Given the description of an element on the screen output the (x, y) to click on. 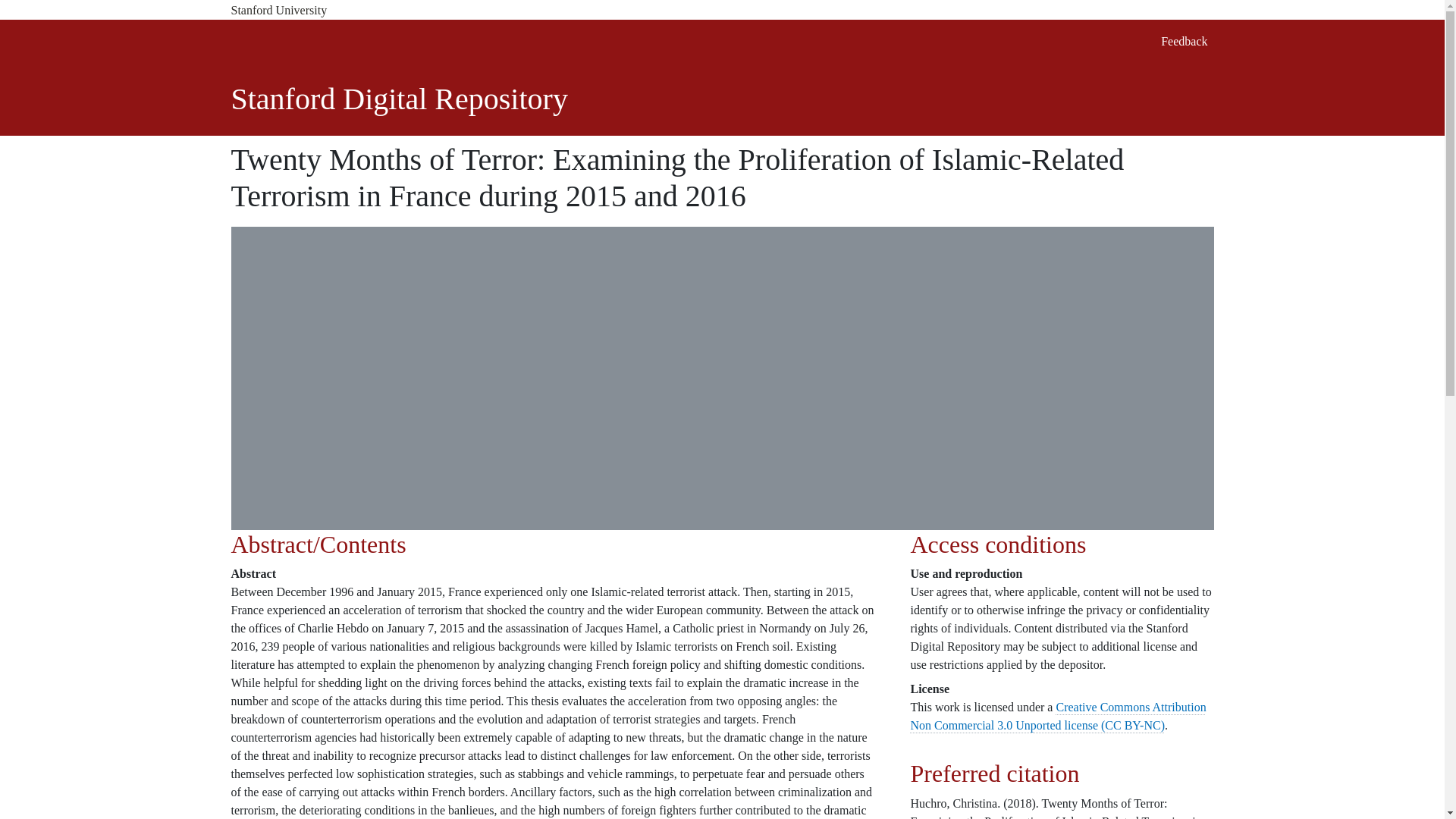
Feedback (1183, 40)
Stanford Digital Repository (398, 98)
Stanford Libraries (328, 40)
Stanford University (721, 10)
